Given the description of an element on the screen output the (x, y) to click on. 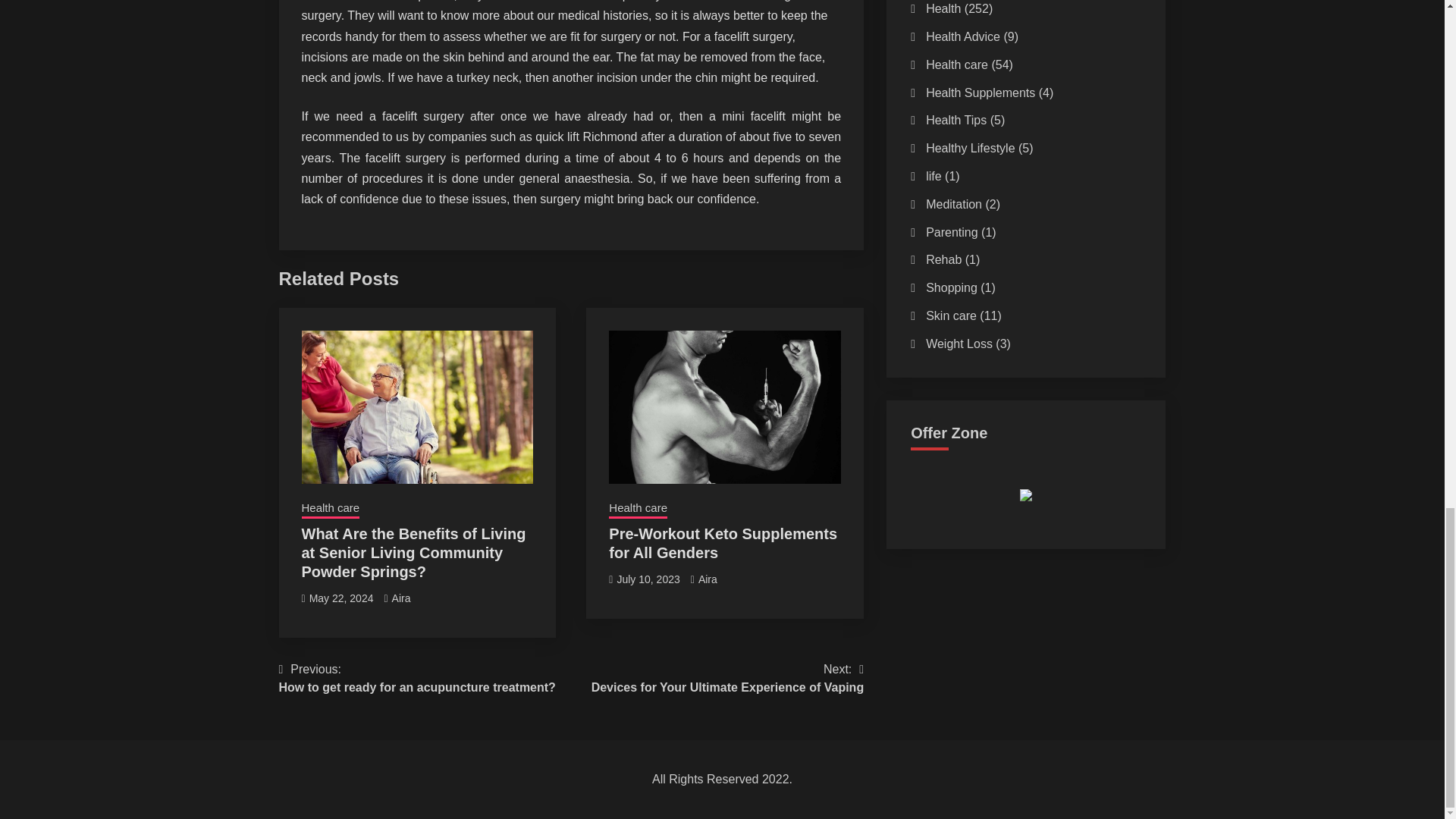
May 22, 2024 (341, 598)
Pre-Workout Keto Supplements for All Genders (722, 543)
Health care (330, 509)
July 10, 2023 (727, 678)
Aira (647, 579)
Health care (400, 598)
Aira (637, 509)
